Given the description of an element on the screen output the (x, y) to click on. 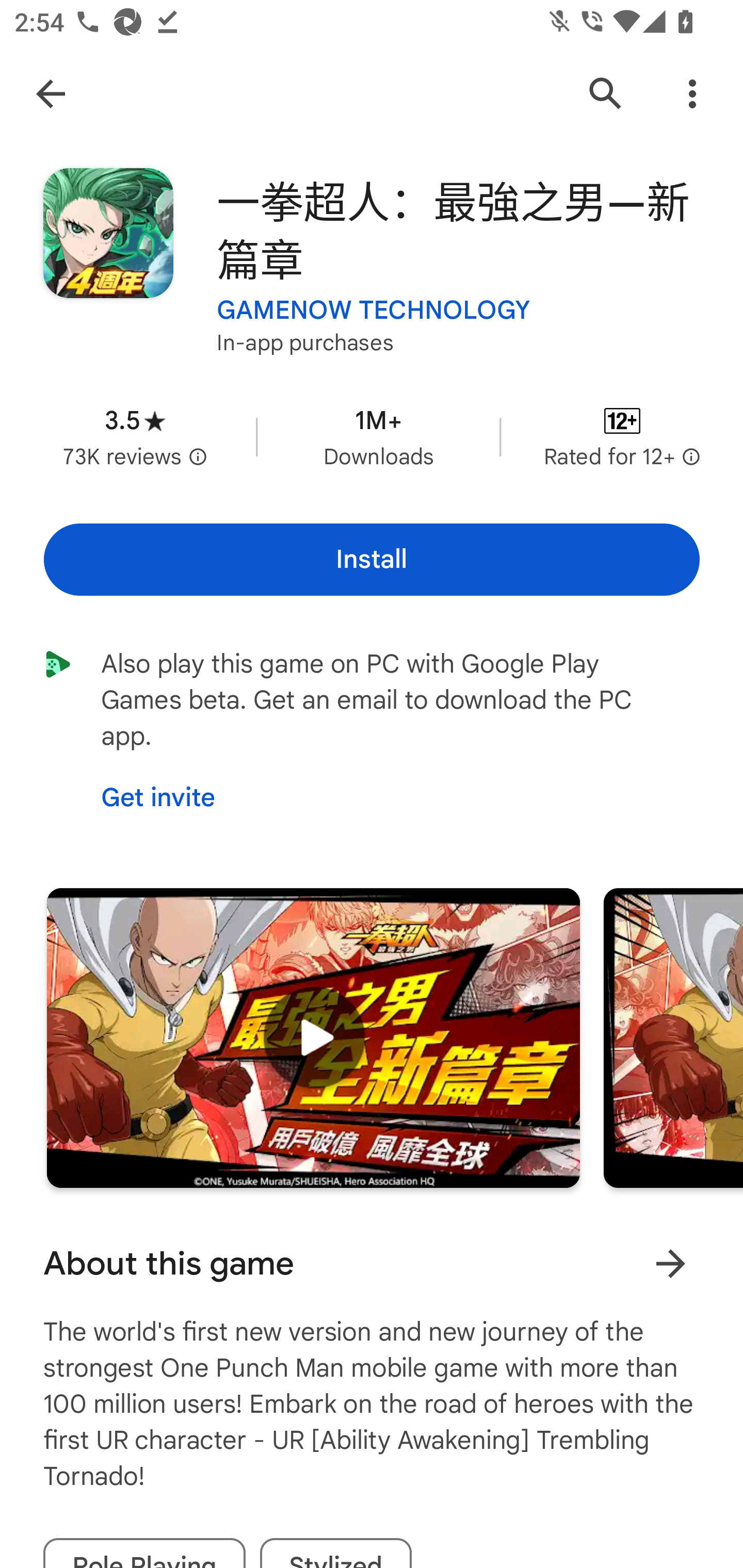
Navigate up (50, 93)
Search Google Play (605, 93)
More Options (692, 93)
GAMENOW TECHNOLOGY (373, 310)
Average rating 3.5 stars in 73 thousand reviews (135, 436)
Content rating Rated for 12+ (622, 436)
Install (371, 559)
Get invite (158, 798)
Play trailer for "一拳超人：最強之男—新篇章" (313, 1037)
About this game Learn more About this game (371, 1263)
Learn more About this game (670, 1263)
